Given the description of an element on the screen output the (x, y) to click on. 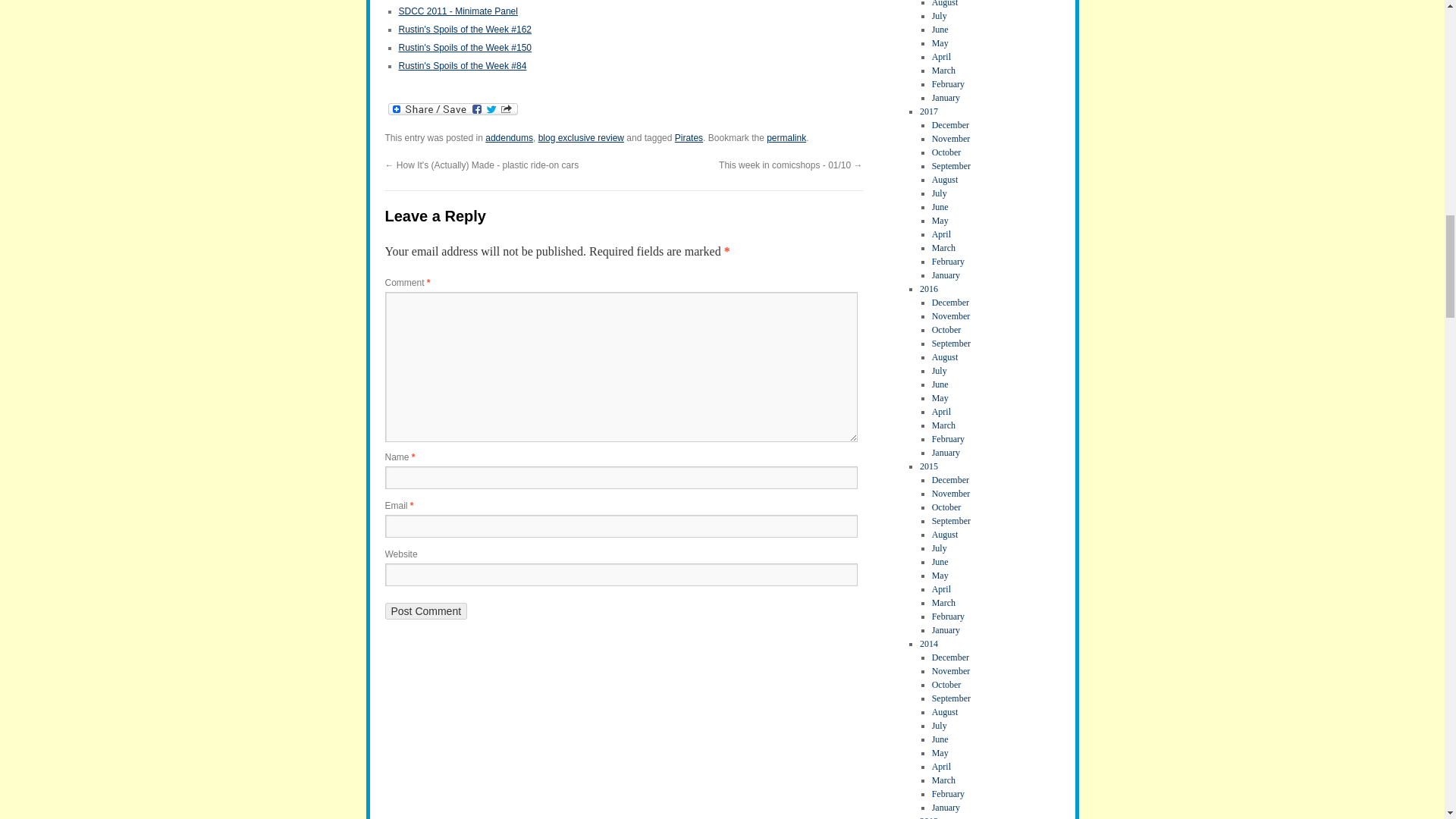
addendums (508, 137)
Post Comment (426, 610)
Permalink to Plunderlings: Boom Crate review (786, 137)
permalink (786, 137)
SDCC 2011 - Minimate Panel (458, 10)
Pirates (689, 137)
SDCC 2011 - Minimate Panel (458, 10)
Post Comment (426, 610)
blog exclusive review (581, 137)
